Given the description of an element on the screen output the (x, y) to click on. 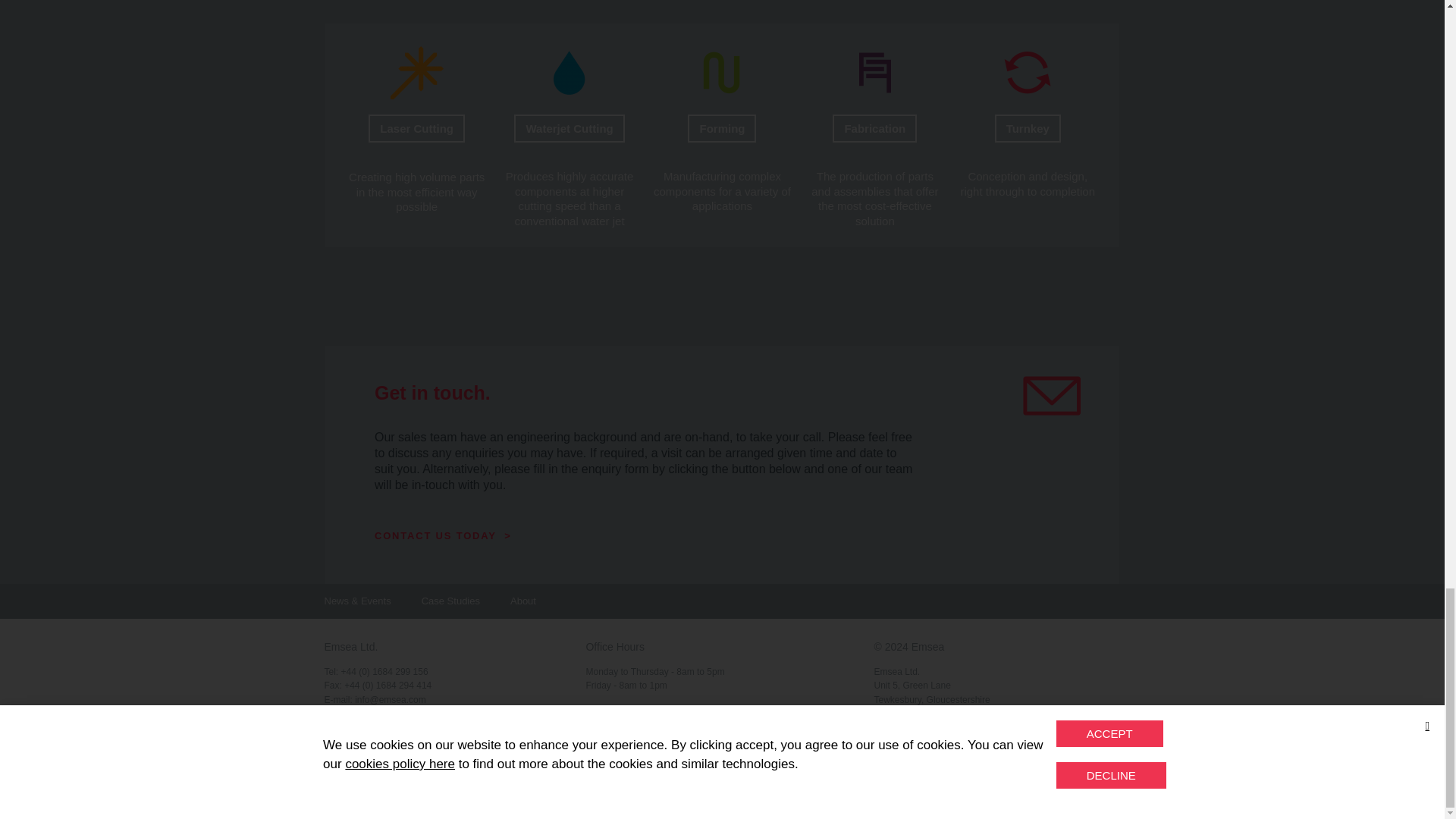
fabrication (874, 72)
water-jet-cutting (569, 72)
forming (721, 72)
turnkey (1027, 72)
laser-cutting (417, 72)
